Given the description of an element on the screen output the (x, y) to click on. 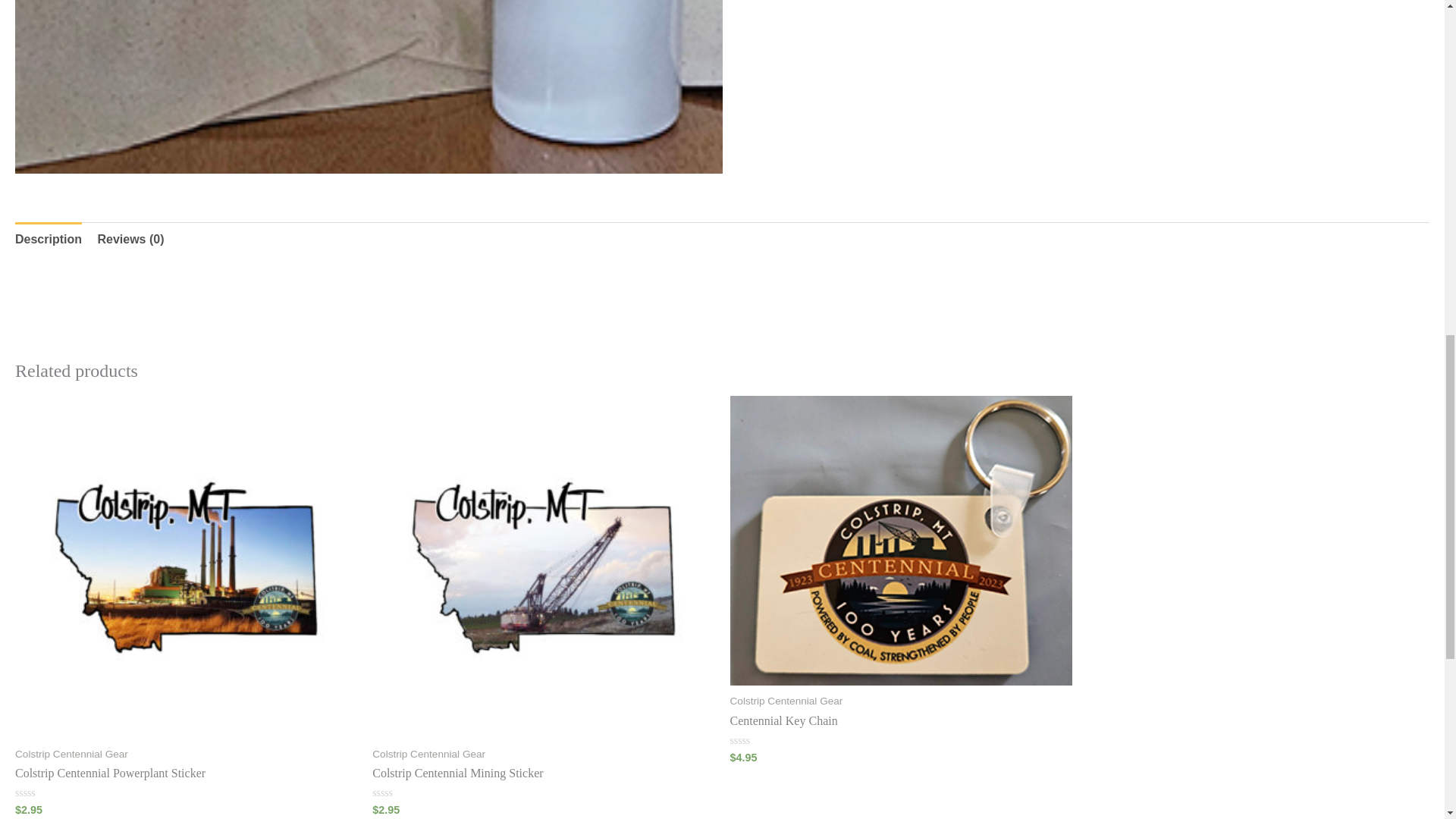
colstrip-centennial-tumbler (368, 86)
